Given the description of an element on the screen output the (x, y) to click on. 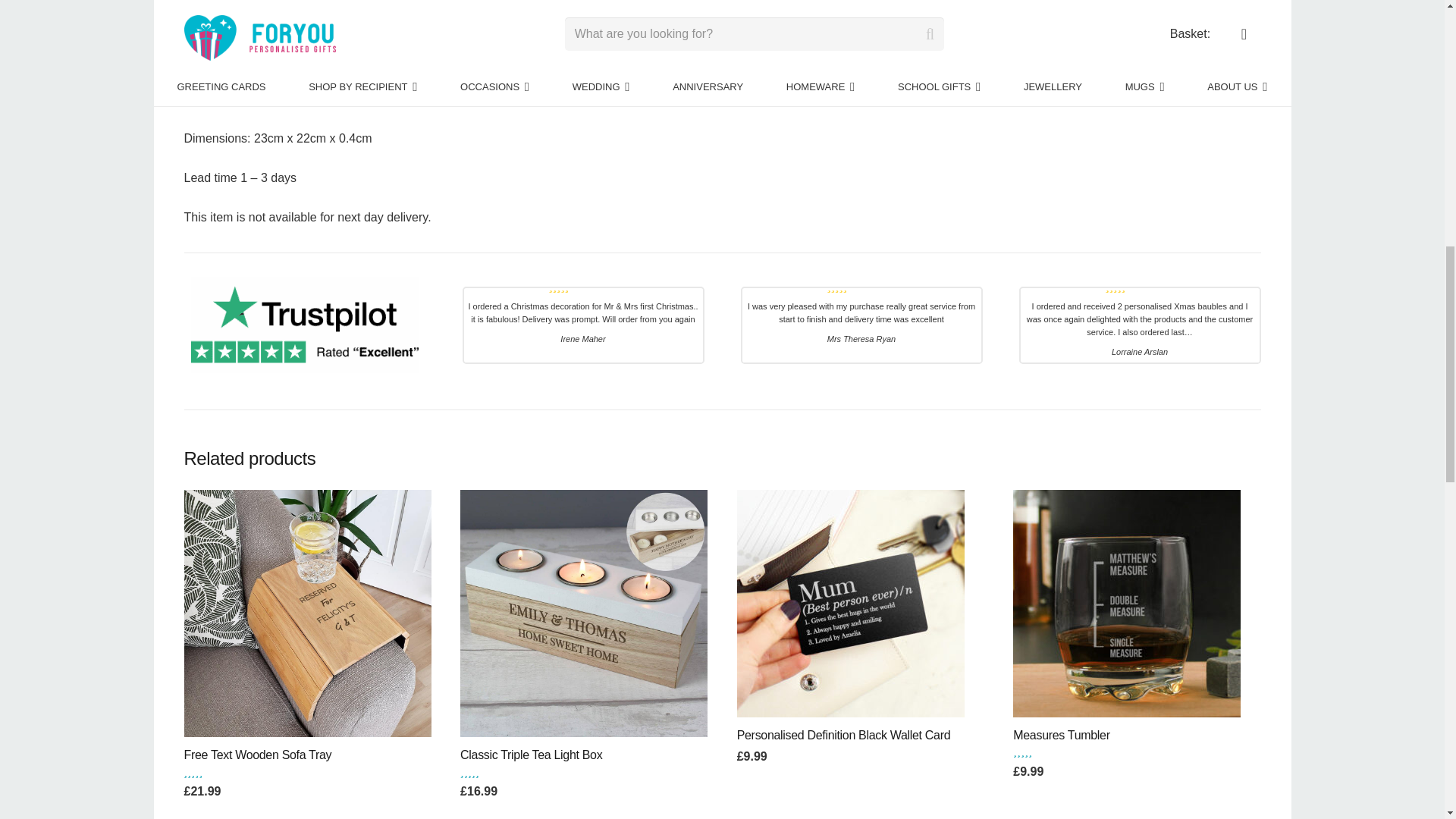
Family Typography Large Wooden Heart Decoration (304, 324)
Free Text Wooden Sofa Tray (306, 613)
Personalised Definition Black Wallet Card (849, 603)
Measures Tumbler (1126, 603)
Classic Triple Tea Light Box (583, 613)
